Given the description of an element on the screen output the (x, y) to click on. 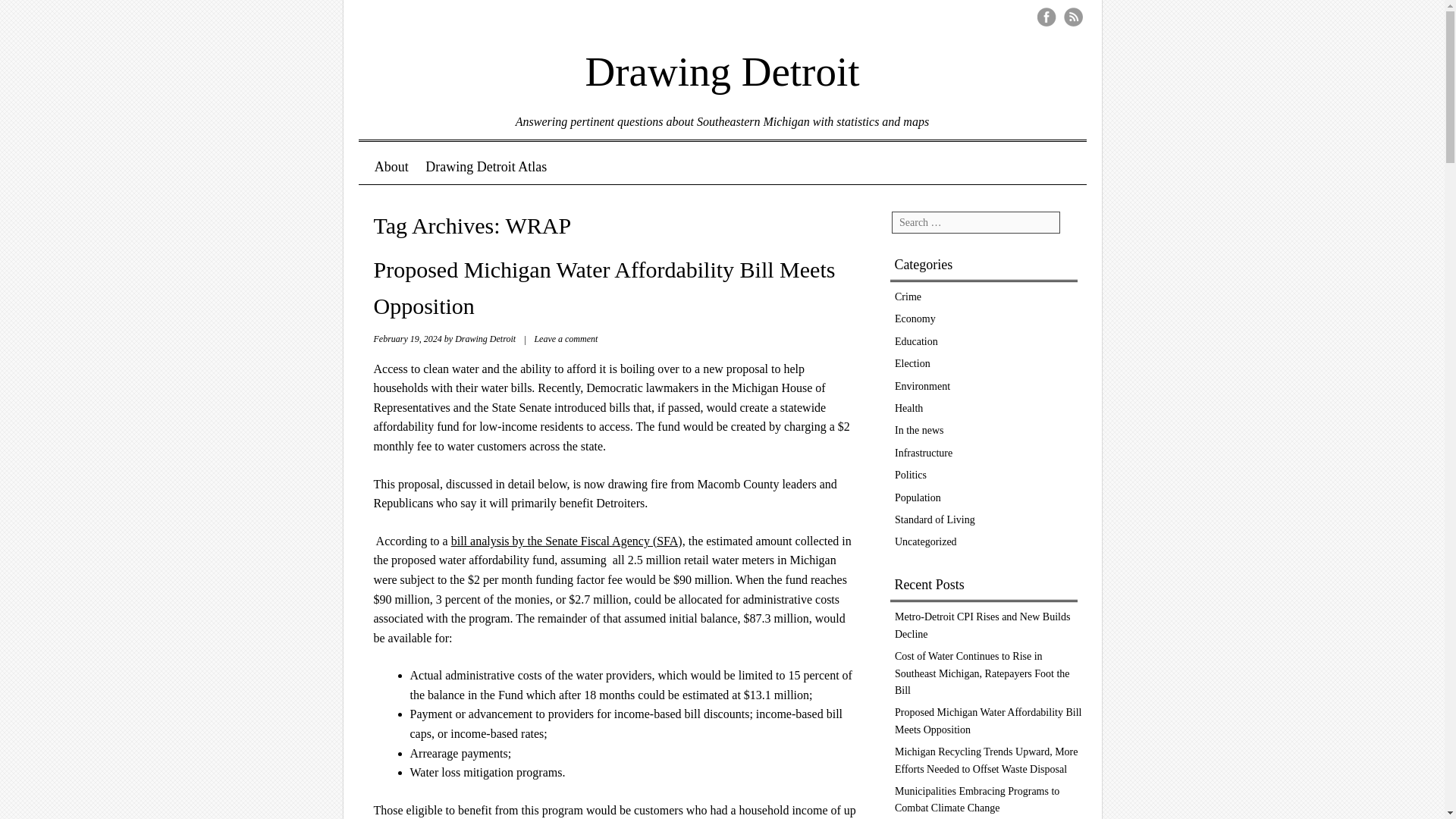
Proposed Michigan Water Affordability Bill Meets Opposition (988, 720)
Skip to content (415, 167)
Leave a comment (565, 338)
Metro-Detroit CPI Rises and New Builds Decline (982, 624)
Proposed Michigan Water Affordability Bill Meets Opposition (603, 287)
In the news (919, 430)
Drawing Detroit (484, 338)
Facebook (1046, 16)
Drawing Detroit (722, 61)
Economy (915, 318)
Search (40, 21)
Drawing Detroit Atlas (485, 167)
Infrastructure (923, 452)
Politics (910, 474)
